Given the description of an element on the screen output the (x, y) to click on. 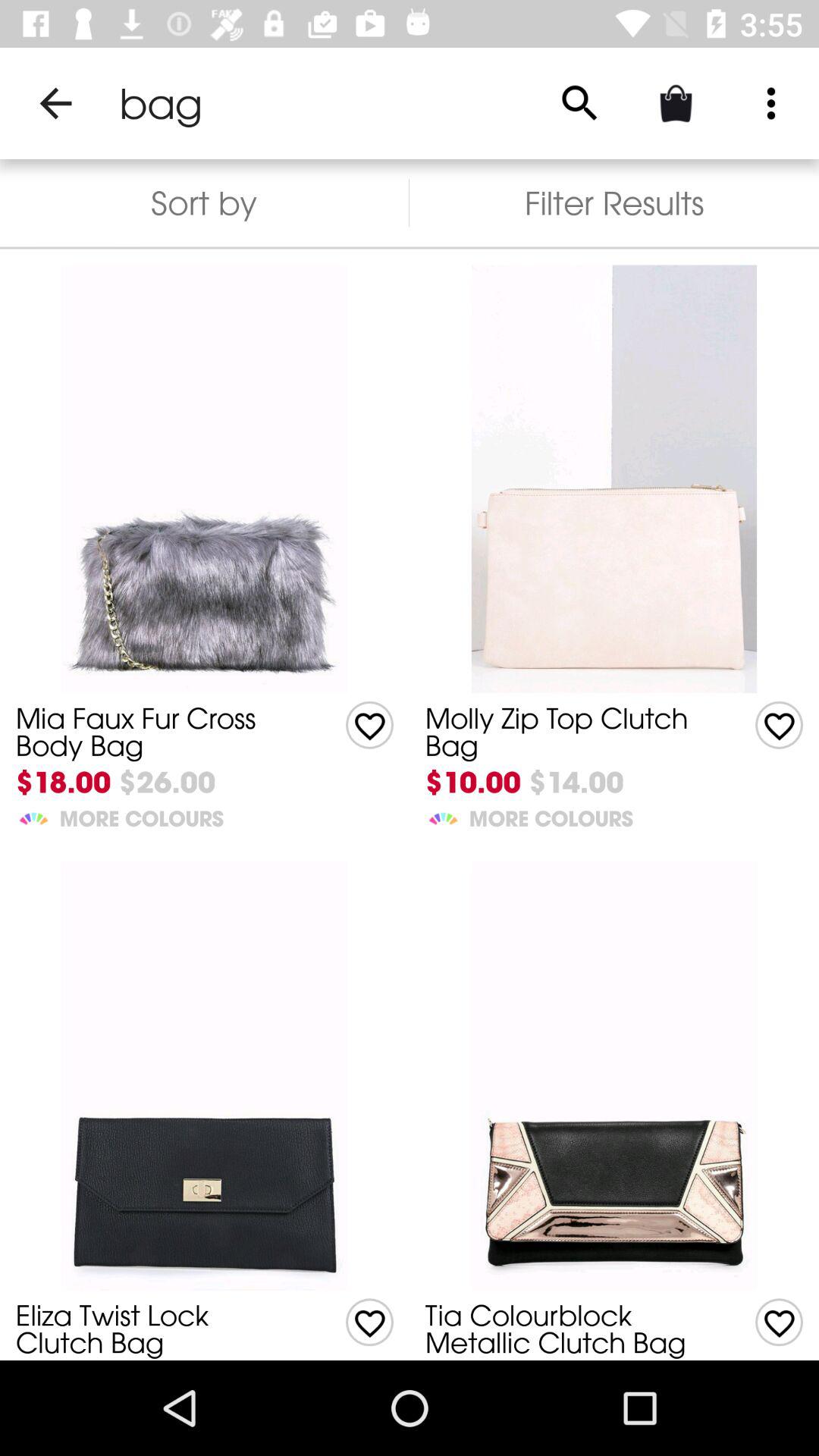
jump until the tia colourblock metallic item (566, 1328)
